Given the description of an element on the screen output the (x, y) to click on. 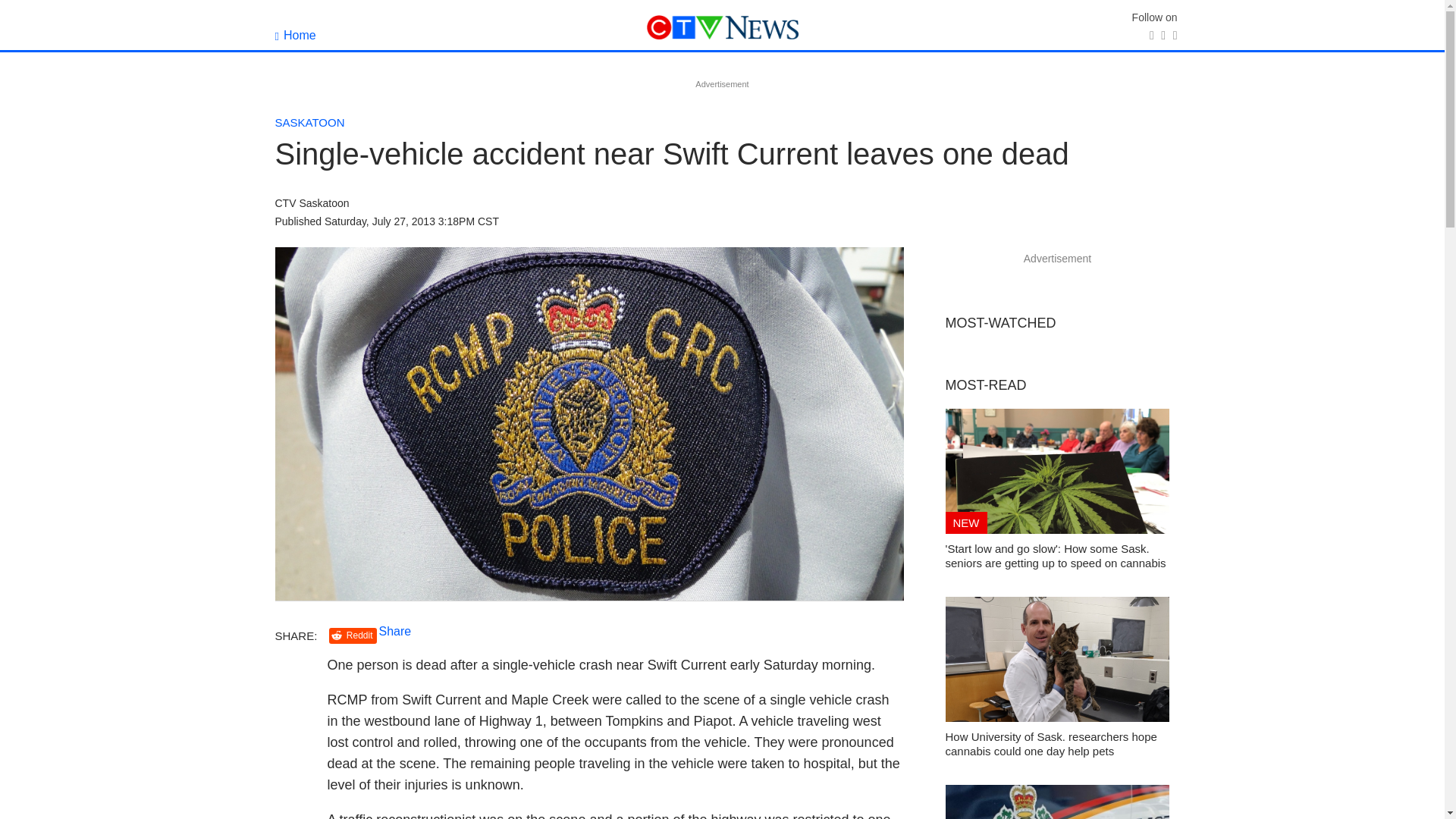
Share (395, 631)
SASKATOON (309, 122)
Home (295, 34)
Reddit (353, 635)
